Given the description of an element on the screen output the (x, y) to click on. 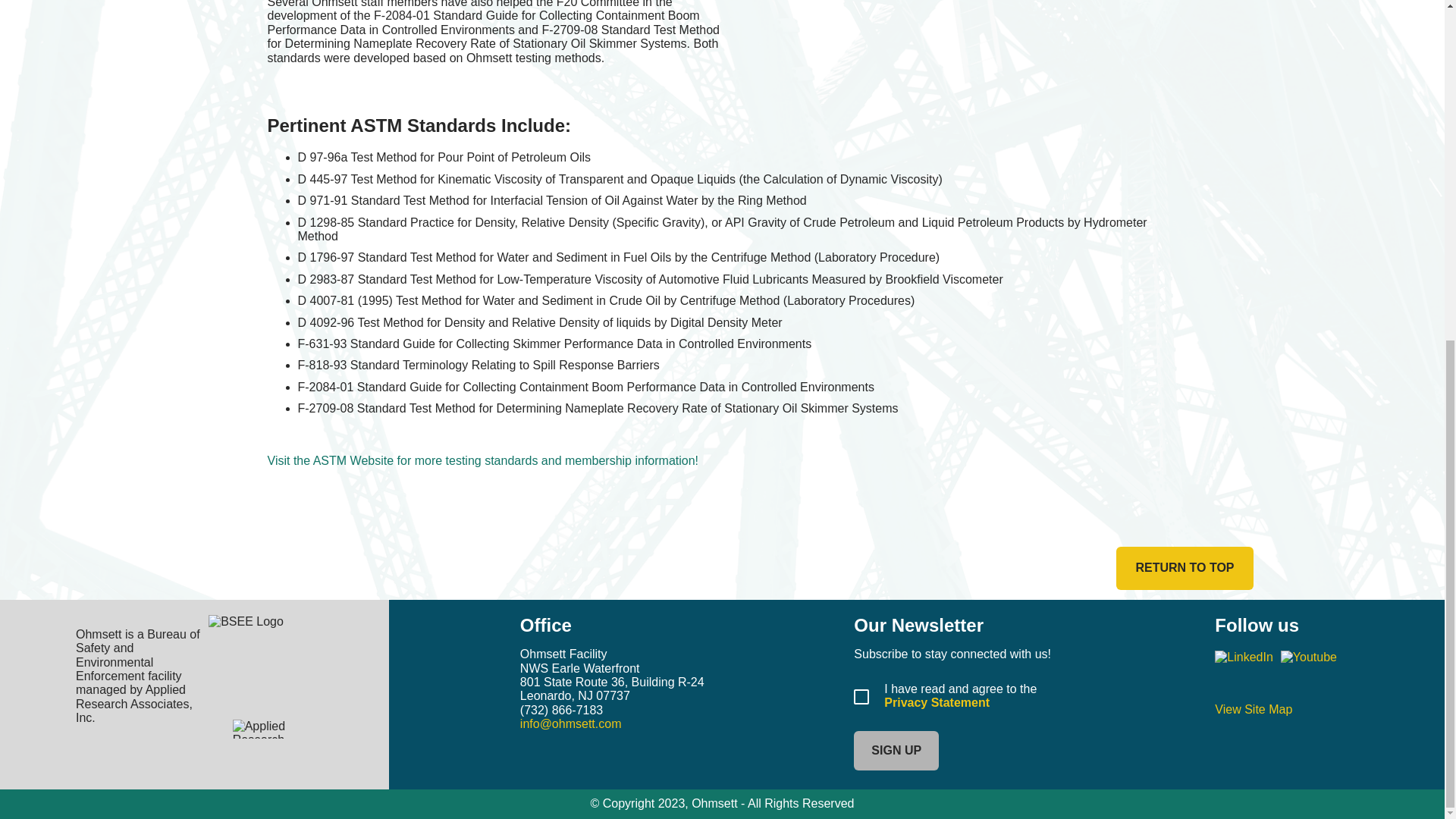
SIGN UP (896, 750)
RETURN TO TOP (1184, 567)
Youtube (1308, 657)
LinkedIn (1243, 657)
View Site Map (1253, 708)
Agree (861, 696)
Privacy Statement (936, 702)
